Given the description of an element on the screen output the (x, y) to click on. 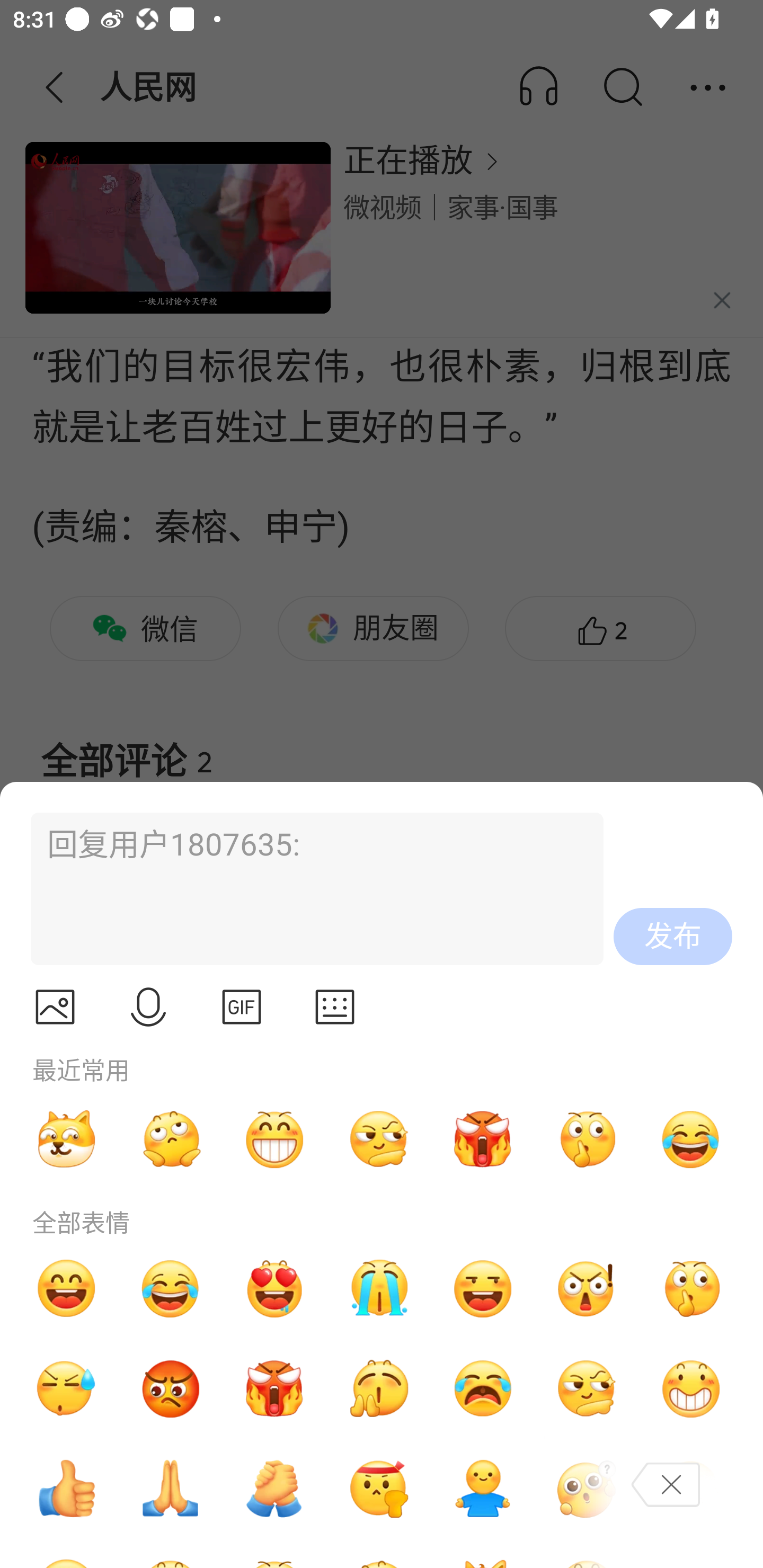
回复用户1807635: (308, 888)
发布 (672, 936)
 (54, 1007)
 (148, 1007)
 (241, 1007)
 (334, 1007)
奸笑 (66, 1138)
无聊 (170, 1138)
呲牙 (274, 1138)
机智 (378, 1138)
愤怒 (482, 1138)
嘘 (586, 1138)
哭笑 (690, 1138)
哈哈 (66, 1288)
哭笑 (170, 1288)
喜欢 (274, 1288)
哭 (378, 1288)
嘿嘿 (482, 1288)
吃惊 (586, 1288)
嘘 (690, 1288)
汗 (66, 1389)
生气 (170, 1389)
愤怒 (274, 1389)
喝彩 (378, 1389)
抓狂 (482, 1389)
机智 (586, 1389)
坏笑 (690, 1389)
点赞 (66, 1488)
缅怀 (170, 1488)
加油 (274, 1488)
奋斗 (378, 1488)
抱抱 (482, 1488)
疑问 (586, 1488)
捂脸 (690, 1488)
